Given the description of an element on the screen output the (x, y) to click on. 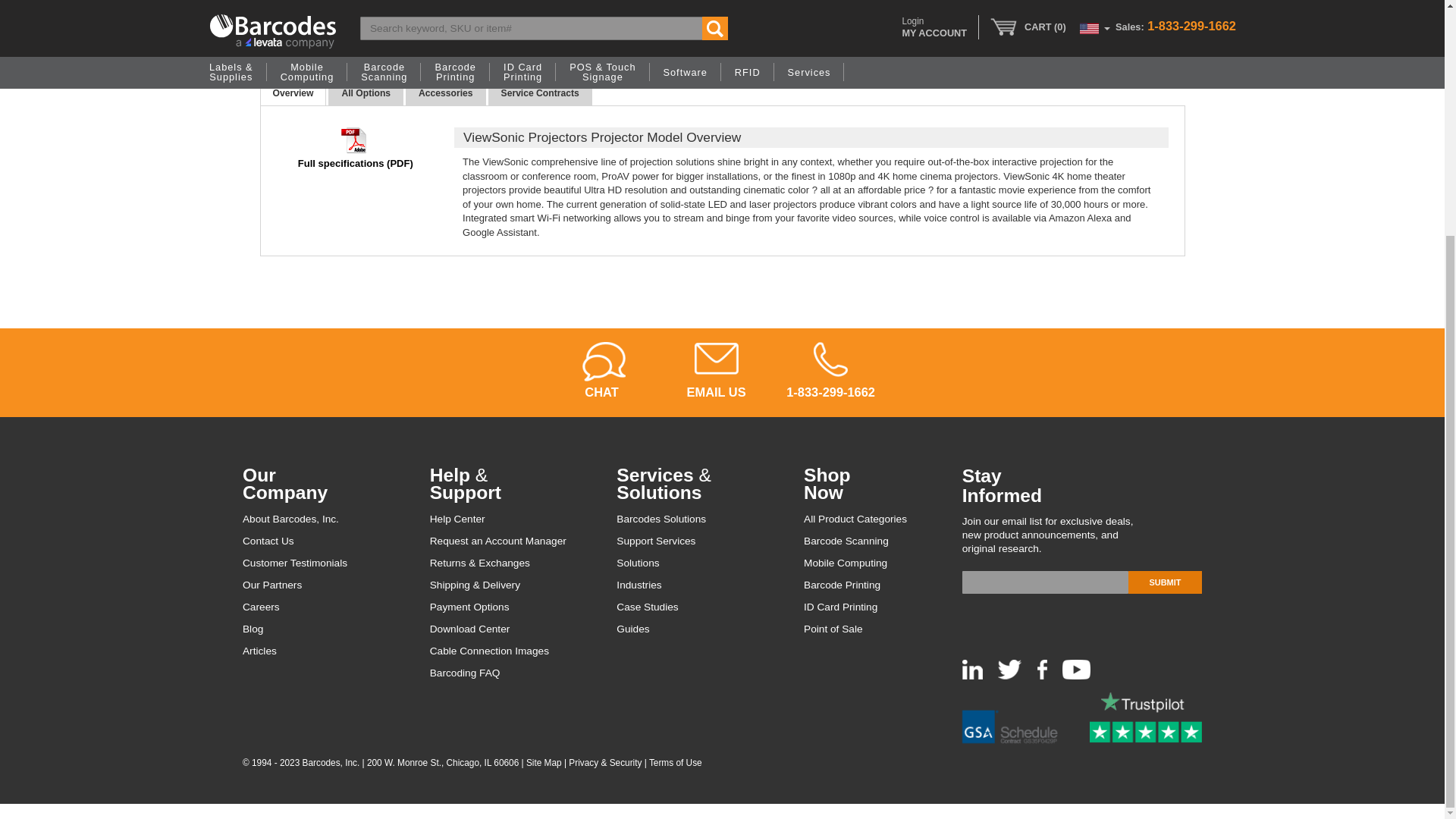
View us on YouTube (1076, 675)
Follow us on Twitter (1009, 675)
View us on LinkedIn (972, 675)
Larger View (286, 47)
Accessories (445, 92)
Overview (293, 92)
Service Contracts (539, 92)
All Options (365, 92)
EMAIL US (716, 370)
